Given the description of an element on the screen output the (x, y) to click on. 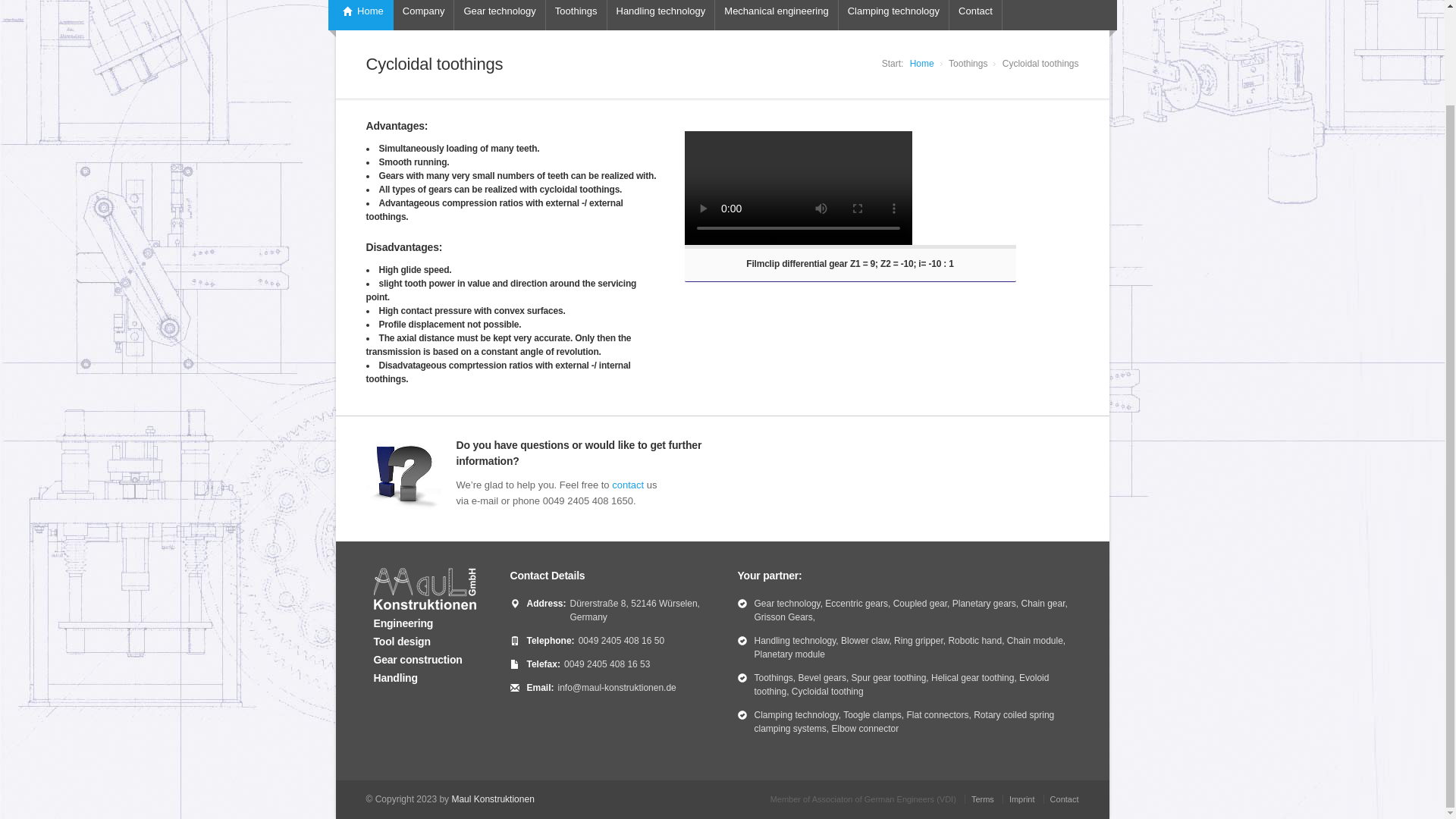
Company (423, 15)
Gear technology (499, 15)
Home (360, 15)
